Given the description of an element on the screen output the (x, y) to click on. 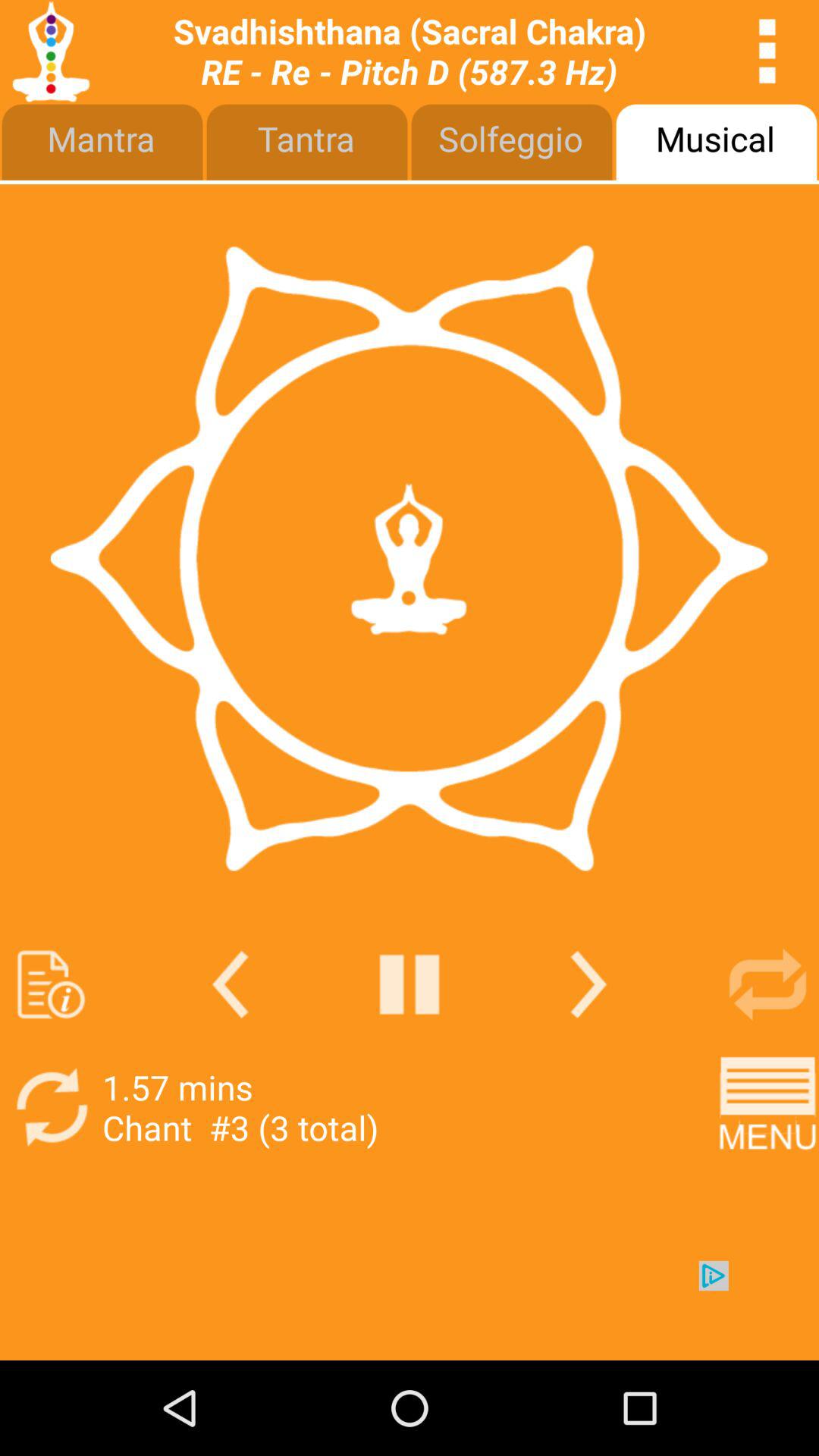
go to back (230, 984)
